Given the description of an element on the screen output the (x, y) to click on. 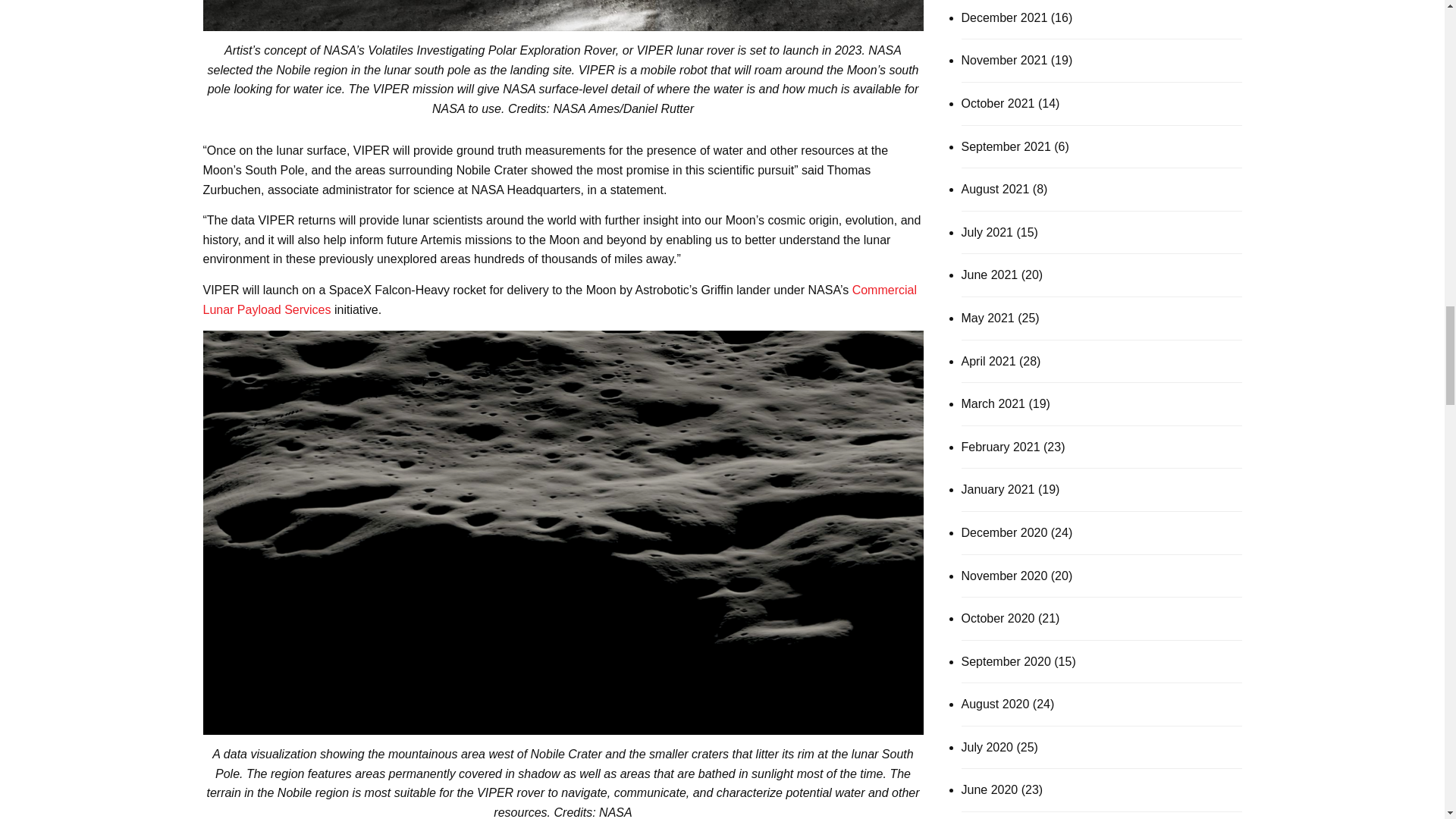
Commercial Lunar Payload Services (560, 299)
